Given the description of an element on the screen output the (x, y) to click on. 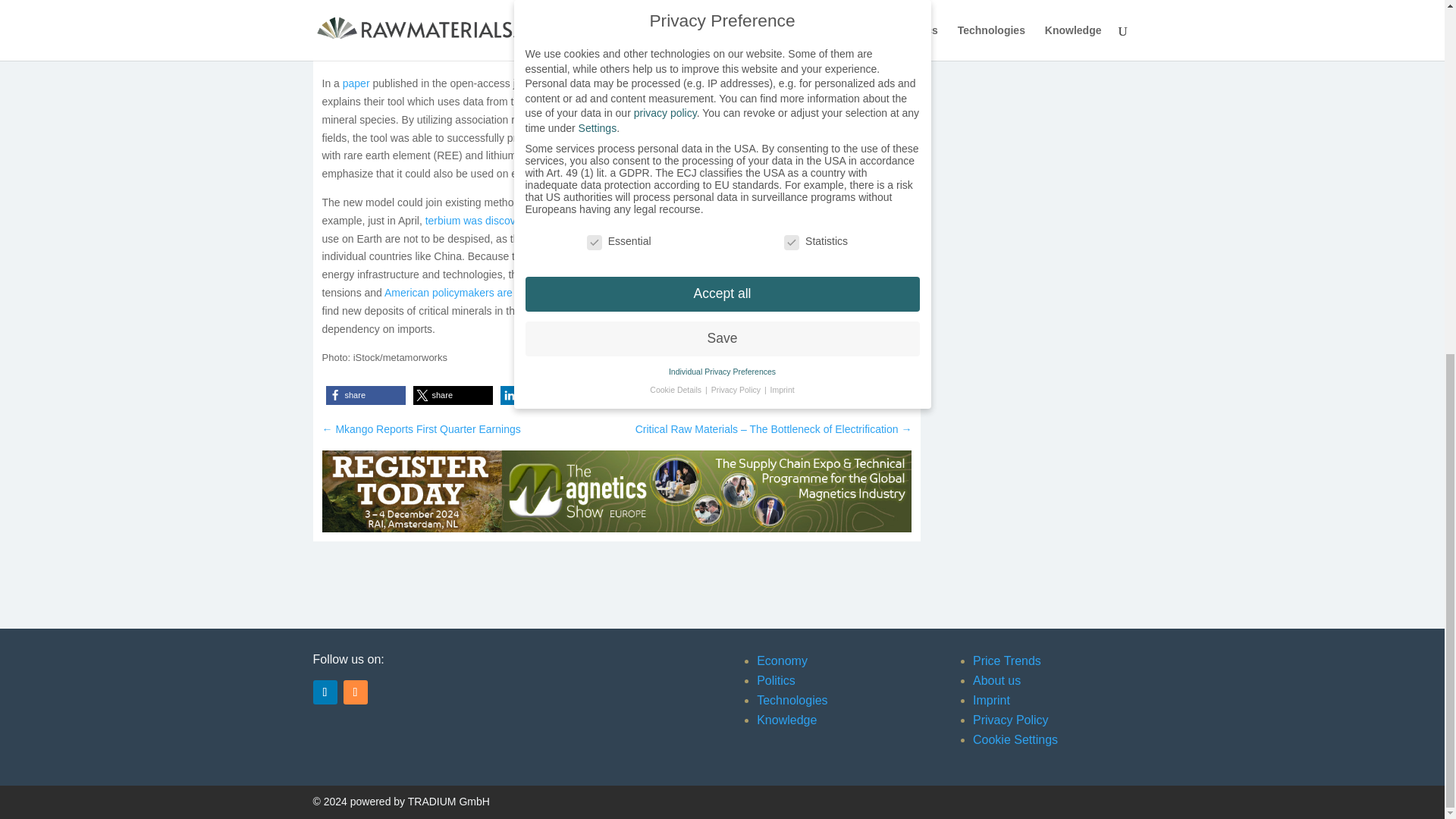
email  (714, 394)
Price Trends (1006, 660)
share  (366, 394)
paper (355, 82)
Politics (775, 680)
share  (452, 394)
Share on LinkedIn (539, 394)
Follow on LinkedIn (324, 692)
Economy (782, 660)
Share on Facebook (366, 394)
